Given the description of an element on the screen output the (x, y) to click on. 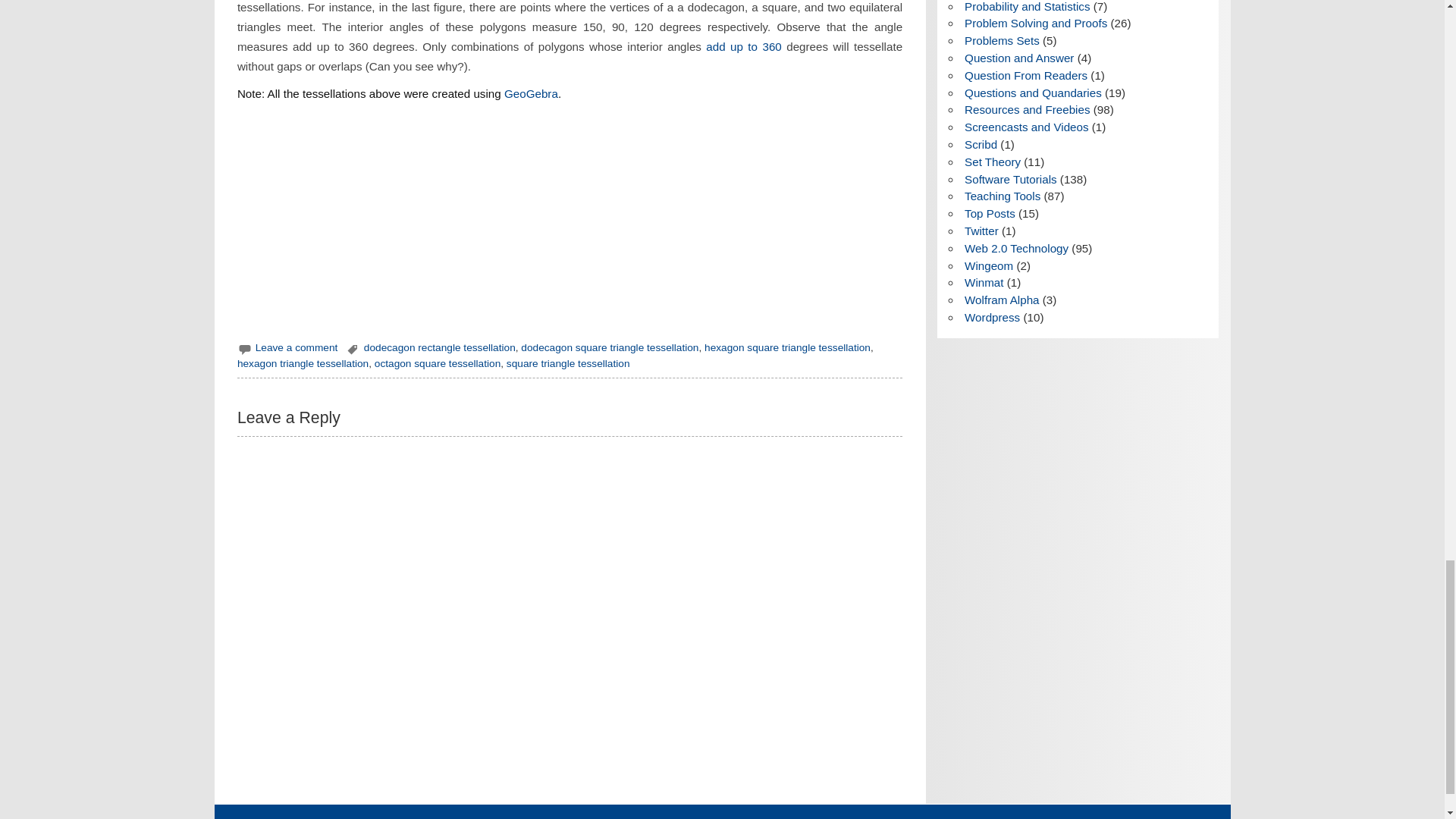
dodecagon rectangle tessellation (439, 347)
square triangle tessellation (568, 363)
octagon square tessellation (437, 363)
dodecagon square triangle tessellation (609, 347)
hexagon triangle tessellation (302, 363)
GeoGebra (530, 92)
hexagon square triangle tessellation (787, 347)
add up to 360 (743, 46)
Leave a comment (296, 347)
